Given the description of an element on the screen output the (x, y) to click on. 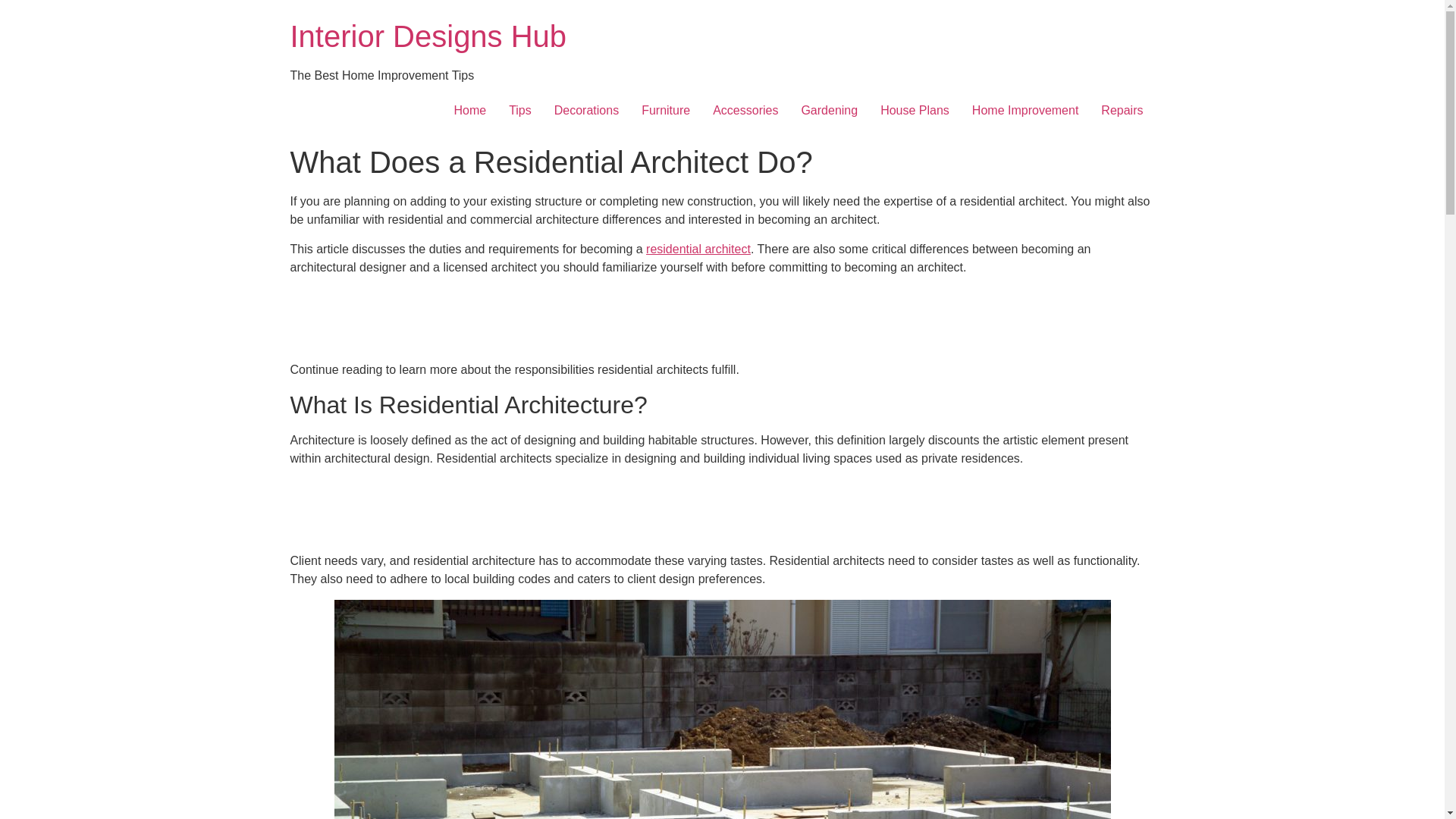
residential architect (698, 248)
Decorations (586, 110)
Accessories (745, 110)
Home Improvement (1025, 110)
Tips (520, 110)
Gardening (829, 110)
Home (427, 36)
Home (469, 110)
Interior Designs Hub (427, 36)
Repairs (1121, 110)
House Plans (914, 110)
Advertisement (721, 512)
Furniture (665, 110)
Advertisement (721, 321)
